Given the description of an element on the screen output the (x, y) to click on. 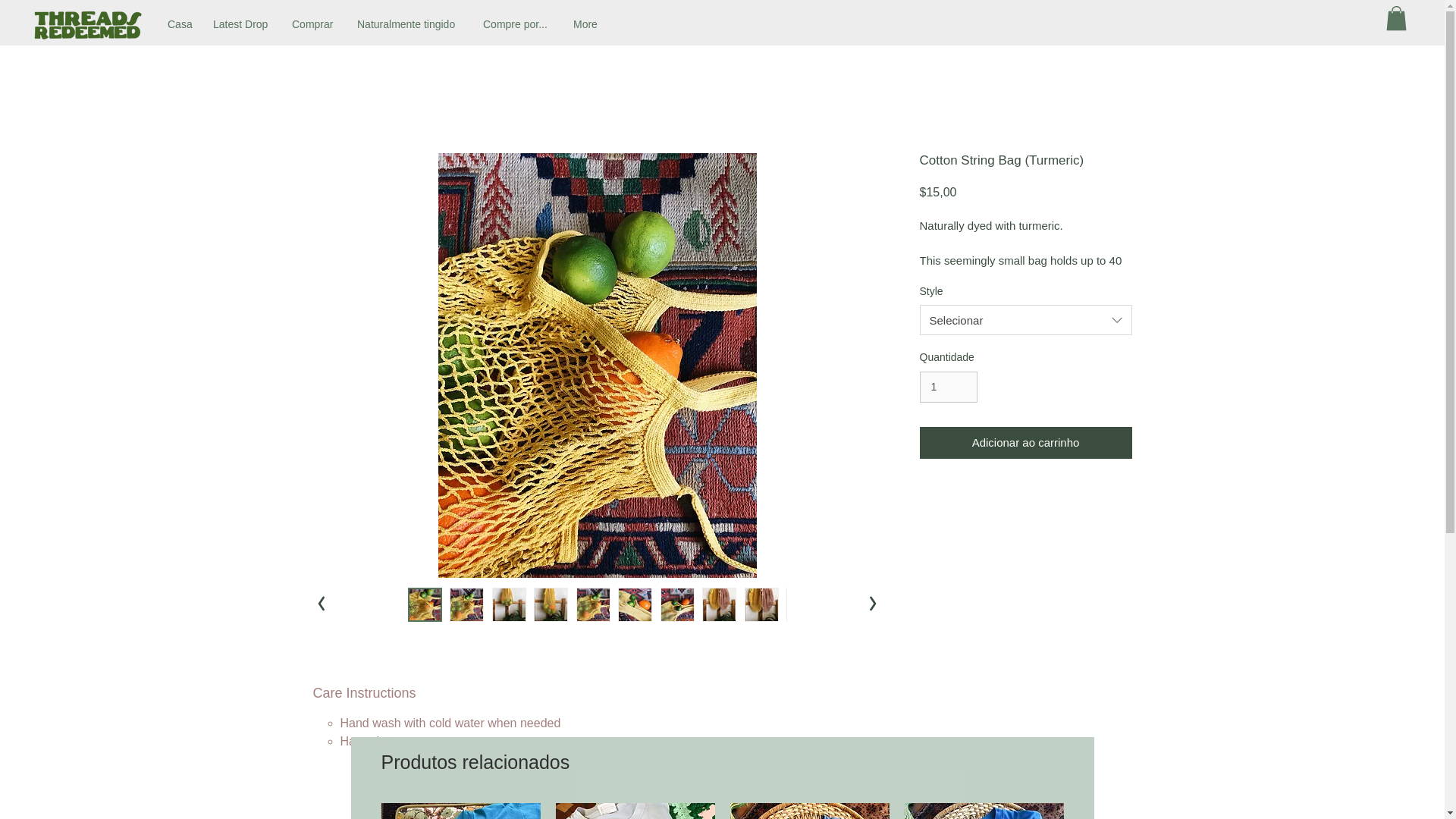
Naturalmente tingido (408, 24)
Selecionar (1024, 319)
Comprar (313, 24)
1 (947, 386)
Compre por... (516, 24)
Latest Drop (241, 24)
Casa (178, 24)
